Given the description of an element on the screen output the (x, y) to click on. 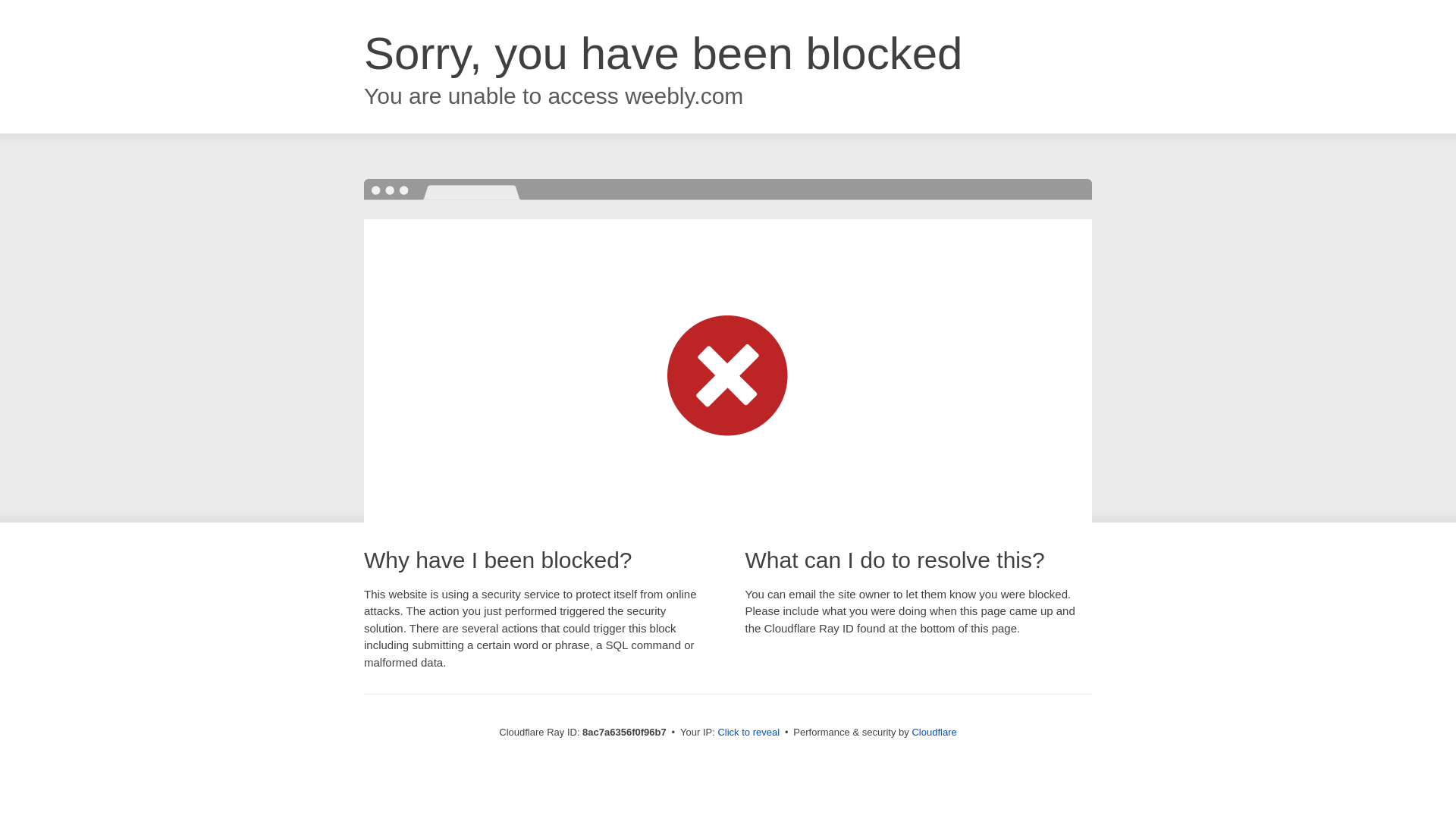
Cloudflare (933, 731)
Click to reveal (747, 732)
